Given the description of an element on the screen output the (x, y) to click on. 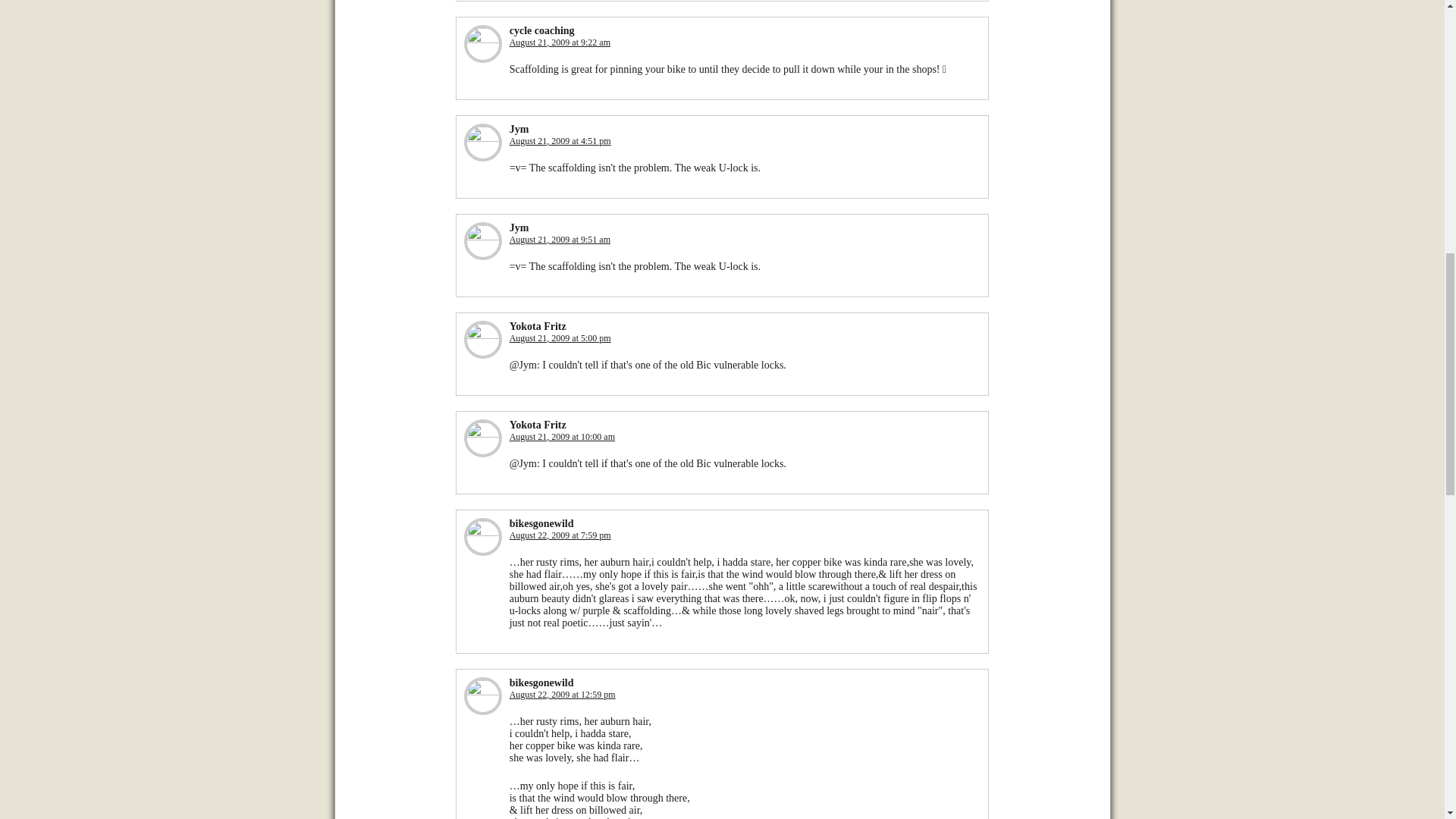
August 21, 2009 at 10:00 am (561, 436)
August 22, 2009 at 7:59 pm (560, 534)
August 21, 2009 at 4:51 pm (560, 140)
August 21, 2009 at 9:22 am (559, 41)
August 22, 2009 at 12:59 pm (562, 694)
August 21, 2009 at 5:00 pm (560, 337)
August 21, 2009 at 9:51 am (559, 239)
